Given the description of an element on the screen output the (x, y) to click on. 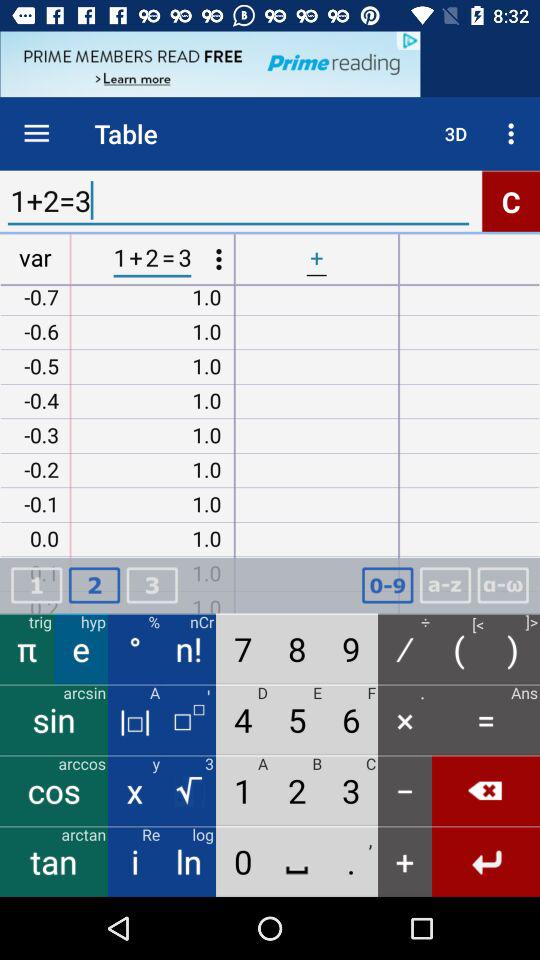
open variable entry screen (445, 585)
